Given the description of an element on the screen output the (x, y) to click on. 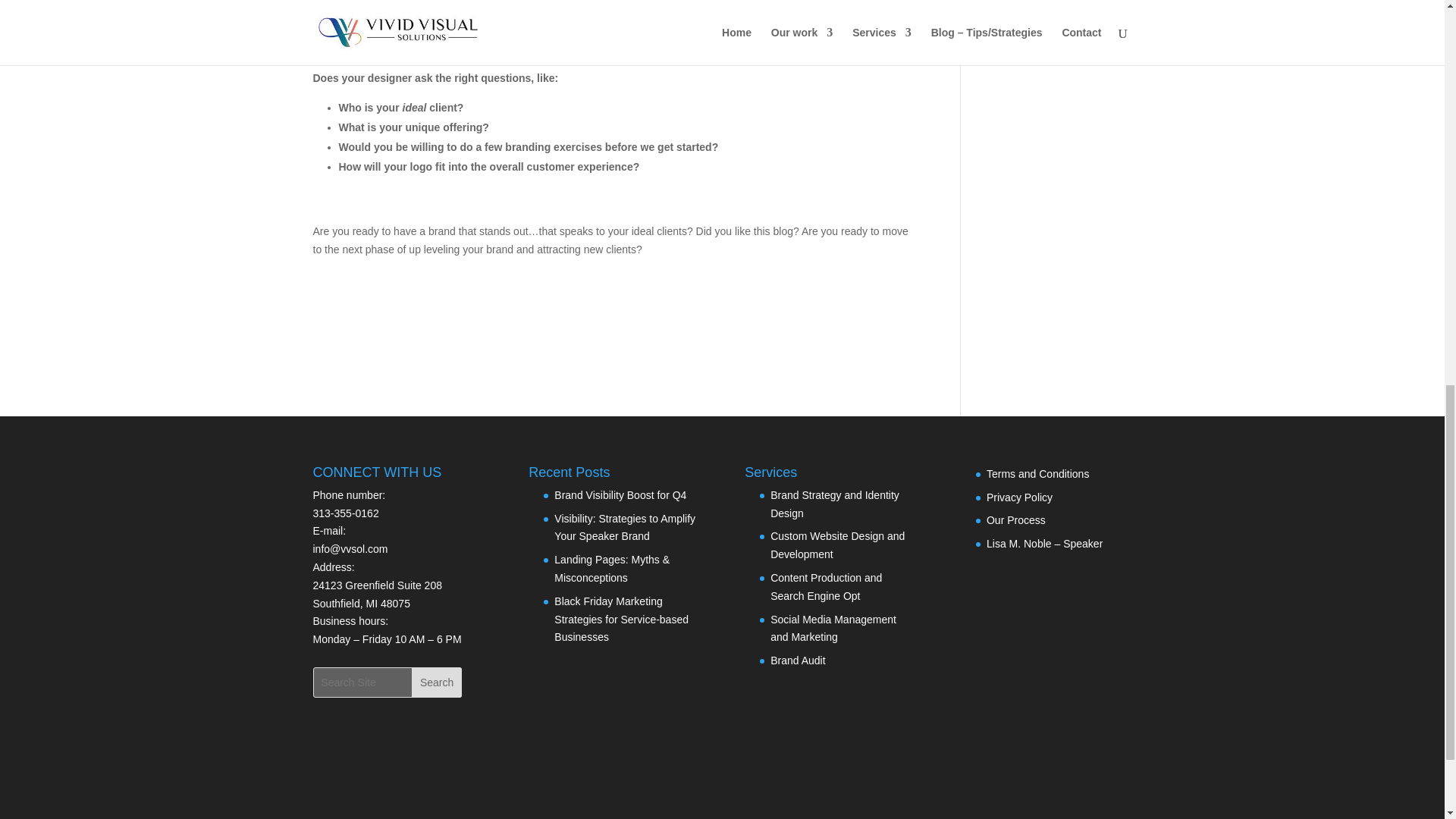
Content Production and Search Engine Opt (826, 586)
Custom Website Design and Development (837, 544)
Brand Visibility Boost for Q4 (619, 494)
Brand Strategy and Identity Design (834, 503)
Visibility: Strategies to Amplify Your Speaker Brand (624, 527)
Search (436, 682)
